Given the description of an element on the screen output the (x, y) to click on. 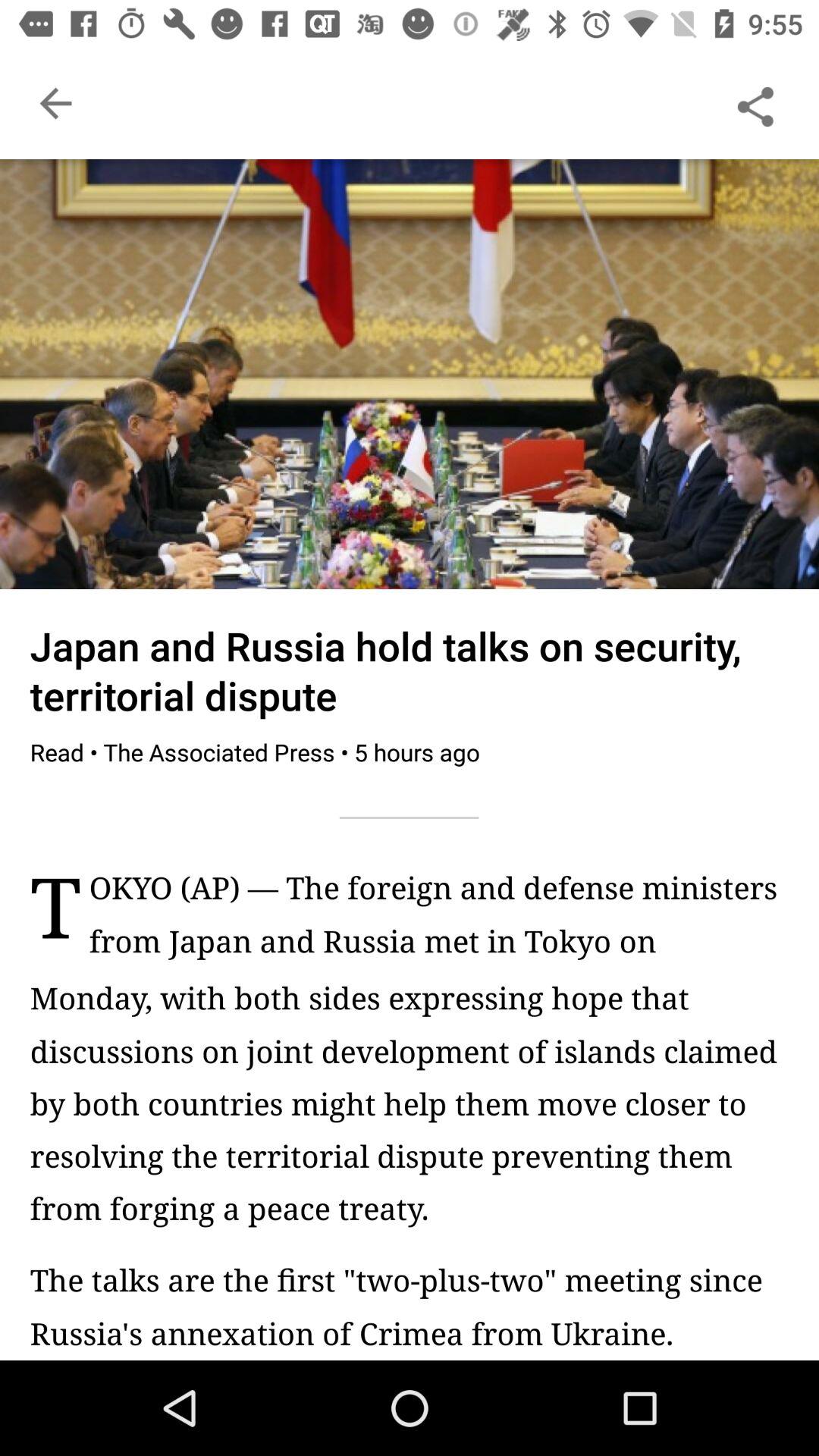
flip to the monday with both item (409, 1102)
